Given the description of an element on the screen output the (x, y) to click on. 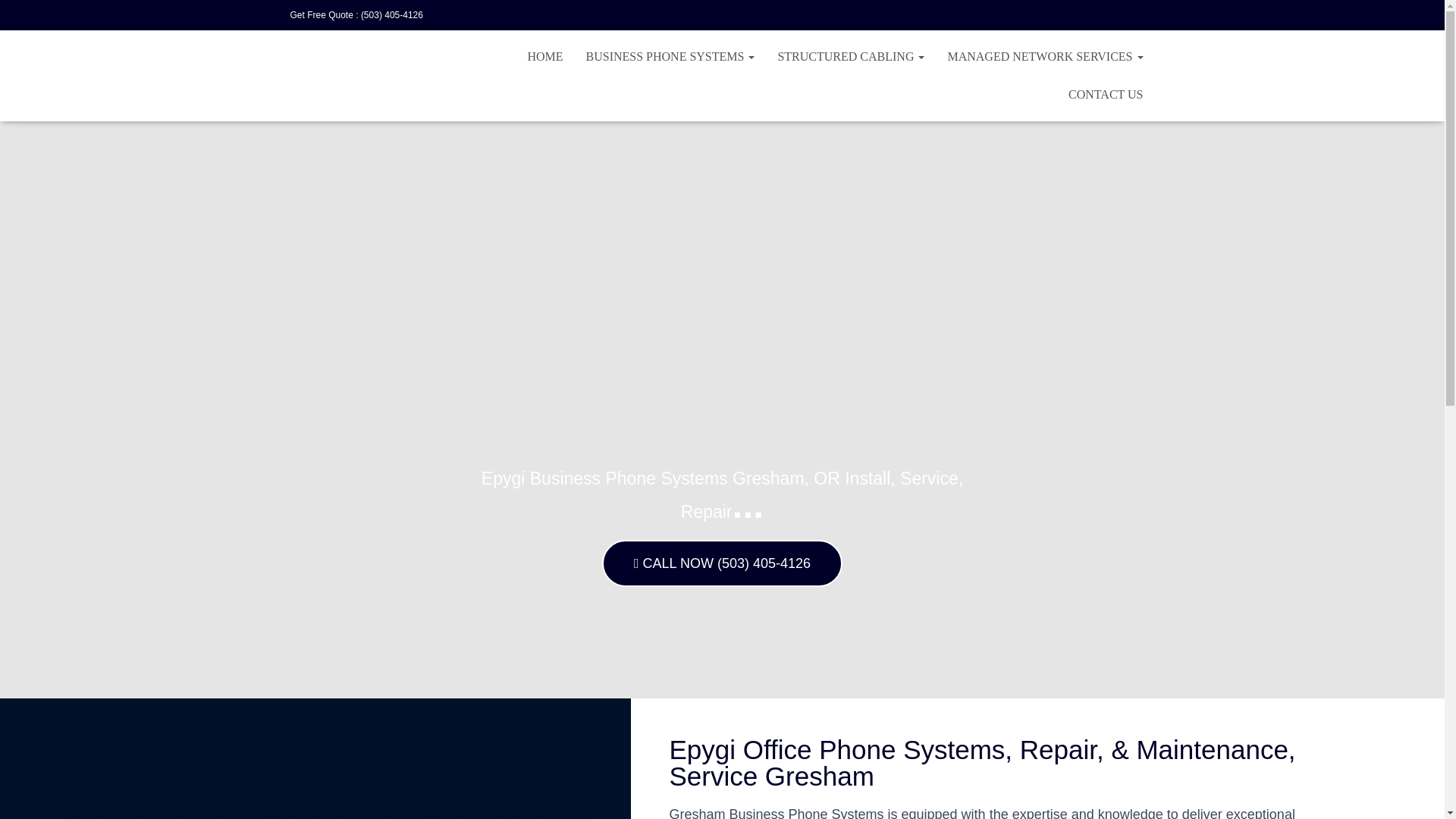
Home (544, 56)
STRUCTURED CABLING (850, 56)
BUSINESS PHONE SYSTEMS (671, 56)
HOME (544, 56)
CONTACT US (1105, 94)
MANAGED NETWORK SERVICES (1045, 56)
BUSINESS PHONE SYSTEMS (671, 56)
